Given the description of an element on the screen output the (x, y) to click on. 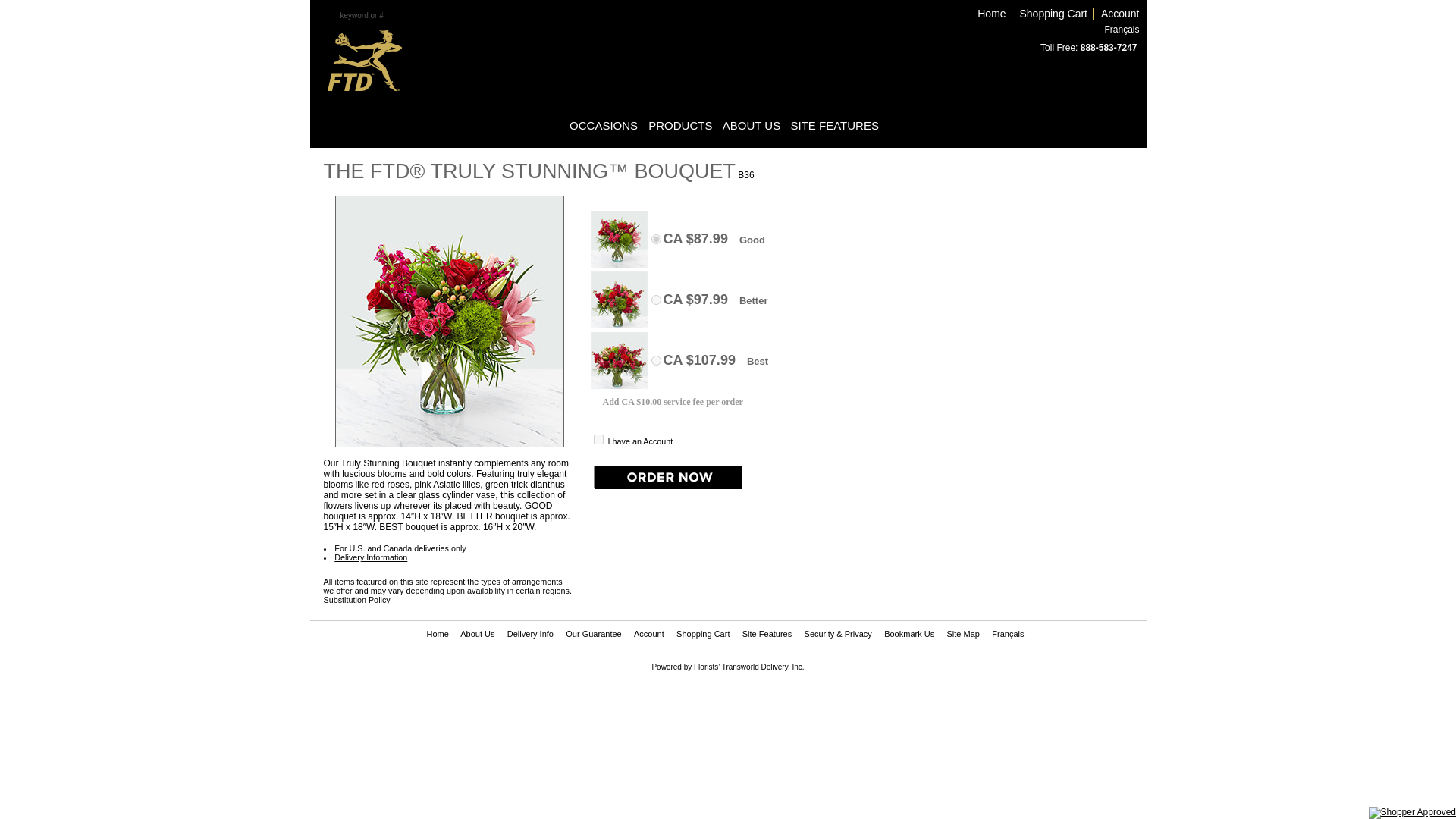
Yes (597, 439)
OCCASIONS (604, 124)
ABOUT US (751, 124)
Home (991, 13)
SITE FEATURES (834, 124)
Shopping Cart (1053, 13)
Account (1120, 13)
PRODUCTS (679, 124)
